Given the description of an element on the screen output the (x, y) to click on. 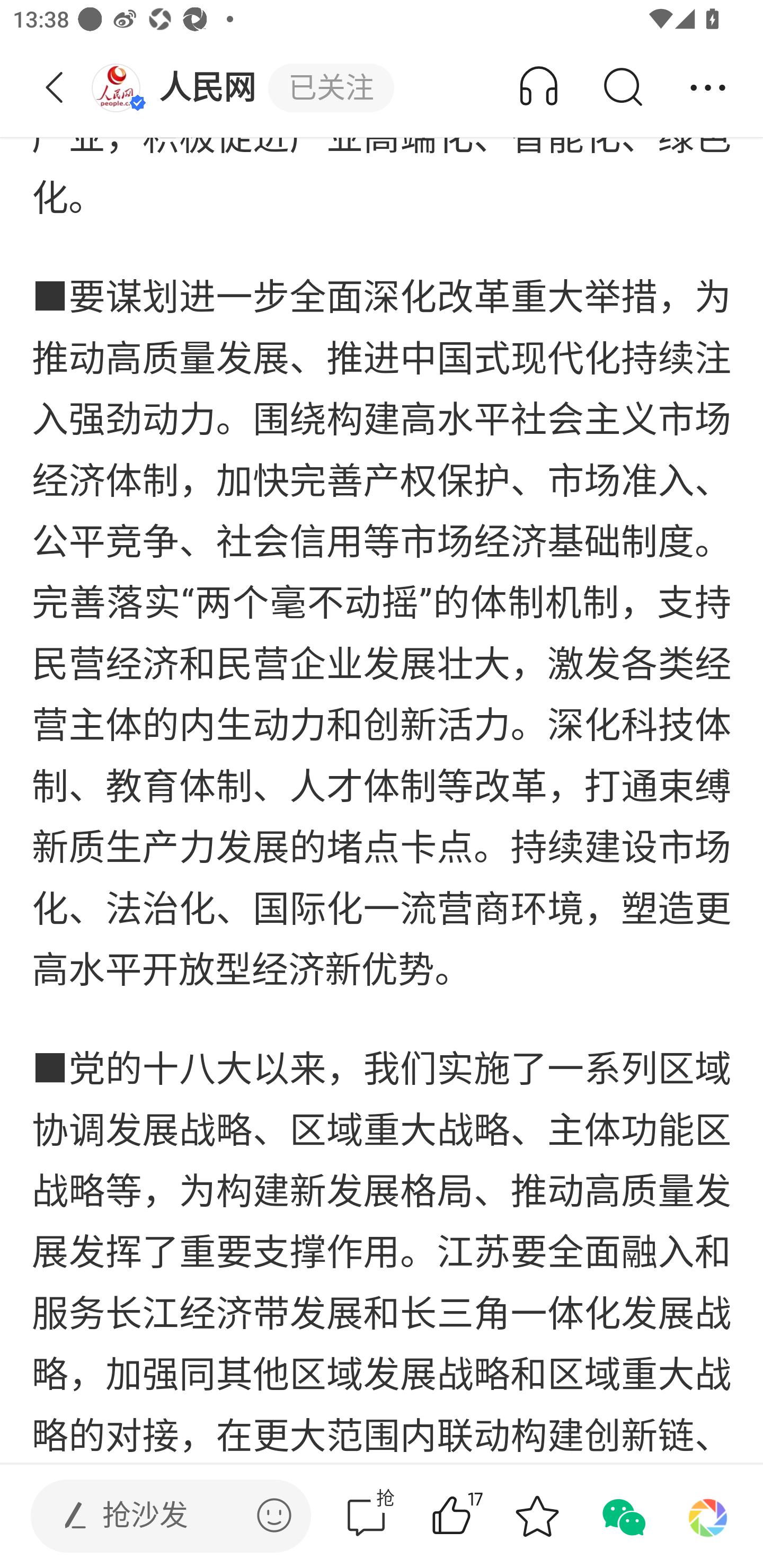
人民网 (179, 87)
搜索  (622, 87)
分享  (707, 87)
 返回 (54, 87)
已关注 (330, 88)
发表评论  抢沙发 发表评论  (155, 1516)
抢评论  抢 评论 (365, 1516)
17赞 (476, 1516)
收藏  (536, 1516)
分享到微信  (622, 1516)
分享到朋友圈 (707, 1516)
 (274, 1515)
